Given the description of an element on the screen output the (x, y) to click on. 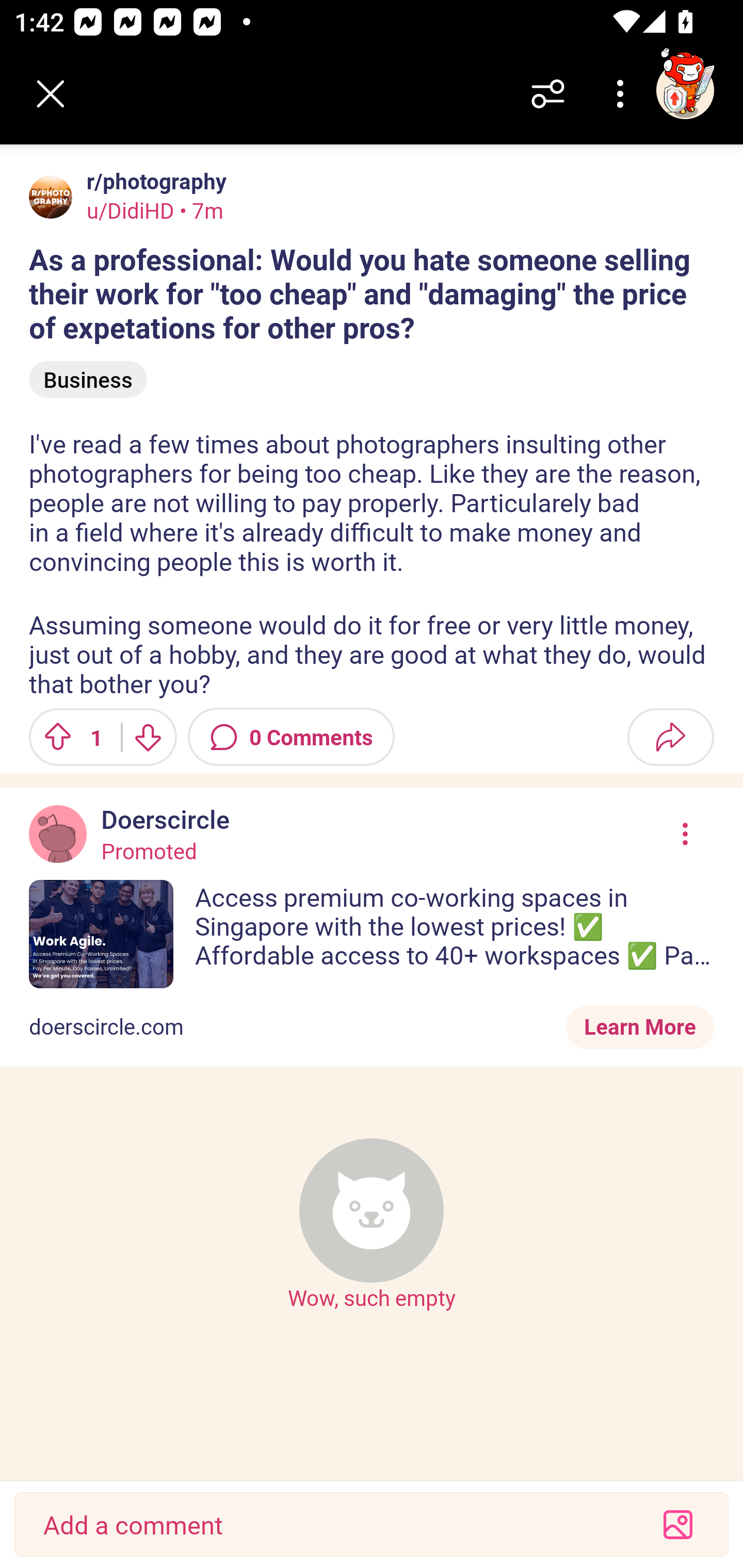
Back (50, 93)
TestAppium002 account (685, 90)
Sort comments (547, 93)
More options (623, 93)
r/photography (153, 181)
Avatar (50, 196)
u/DidiHD (130, 210)
Business (87, 379)
Upvote 1 (67, 736)
Downvote (146, 736)
0 Comments (290, 736)
Share (670, 736)
Add a comment (335, 1524)
Add an image (677, 1524)
